Given the description of an element on the screen output the (x, y) to click on. 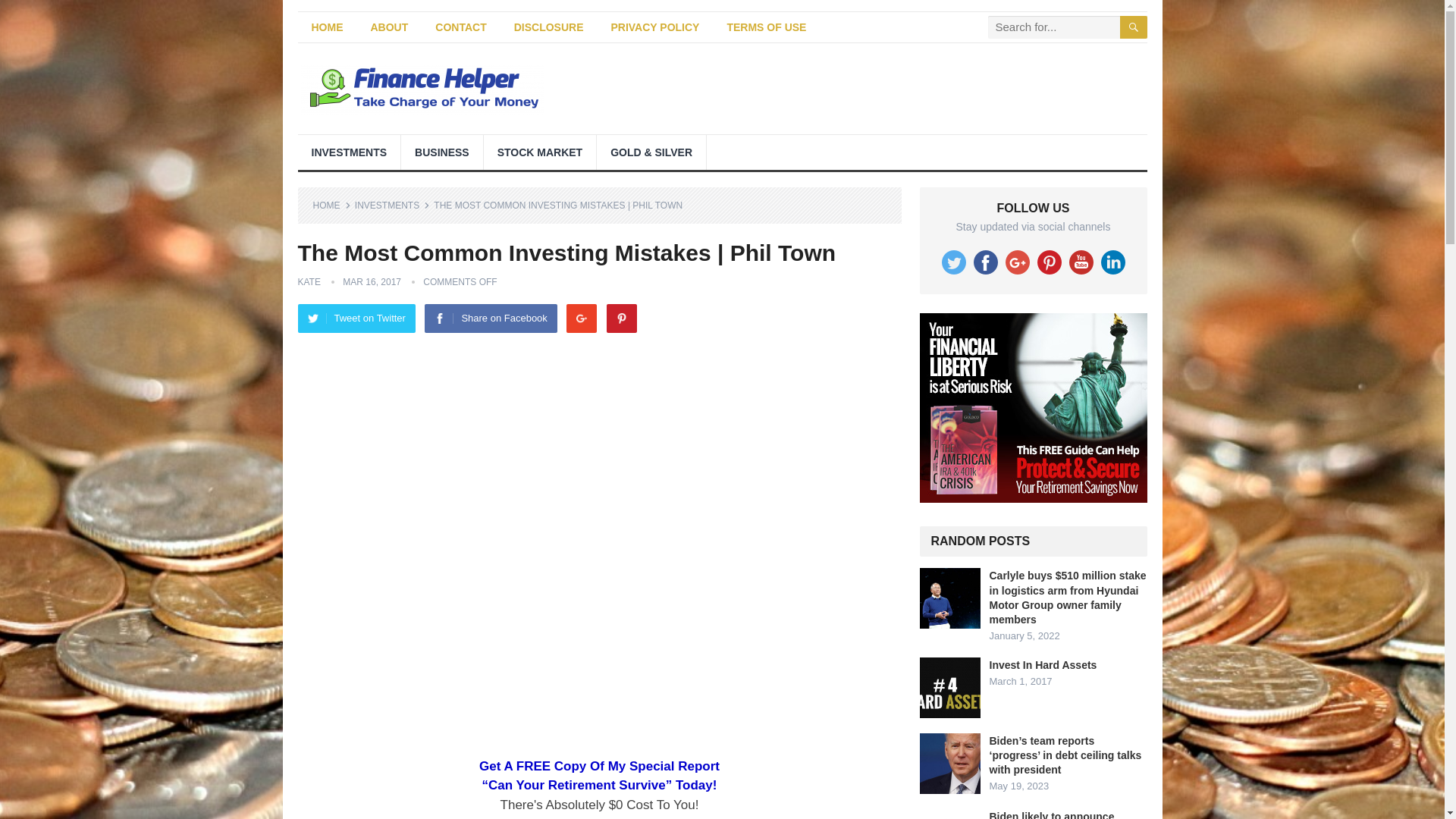
CONTACT (460, 27)
BUSINESS (442, 152)
ABOUT (389, 27)
Tweet on Twitter (355, 317)
STOCK MARKET (539, 152)
Pinterest (622, 317)
DISCLOSURE (548, 27)
INVESTMENTS (392, 204)
Share on Facebook (490, 317)
TERMS OF USE (766, 27)
HOME (331, 204)
View all posts in Investments (392, 204)
Posts by Kate (308, 281)
KATE (308, 281)
PRIVACY POLICY (654, 27)
